Given the description of an element on the screen output the (x, y) to click on. 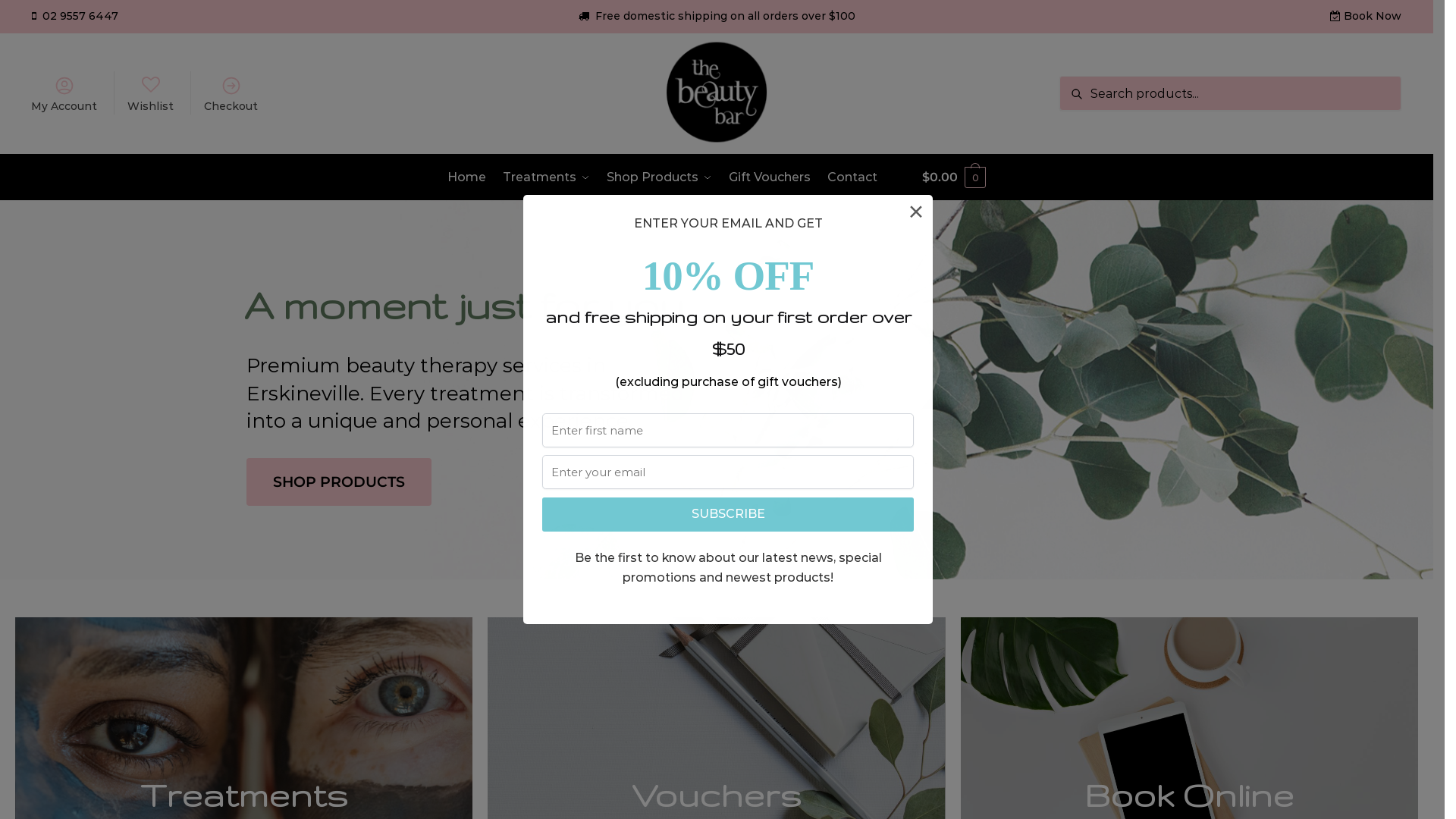
Gift Vouchers Element type: text (769, 177)
Treatments Element type: text (545, 177)
SUBSCRIBE Element type: text (727, 514)
Wishlist Element type: text (150, 93)
 02 9557 6447 Element type: text (78, 15)
Search Element type: text (1084, 86)
Shop Products Element type: text (658, 177)
Contact Element type: text (852, 177)
Book Now Element type: text (1372, 15)
SHOP PRODUCTS Element type: text (338, 481)
$0.00 0 Element type: text (953, 177)
My Account Element type: text (63, 93)
Home Element type: text (469, 177)
Checkout Element type: text (230, 93)
